Given the description of an element on the screen output the (x, y) to click on. 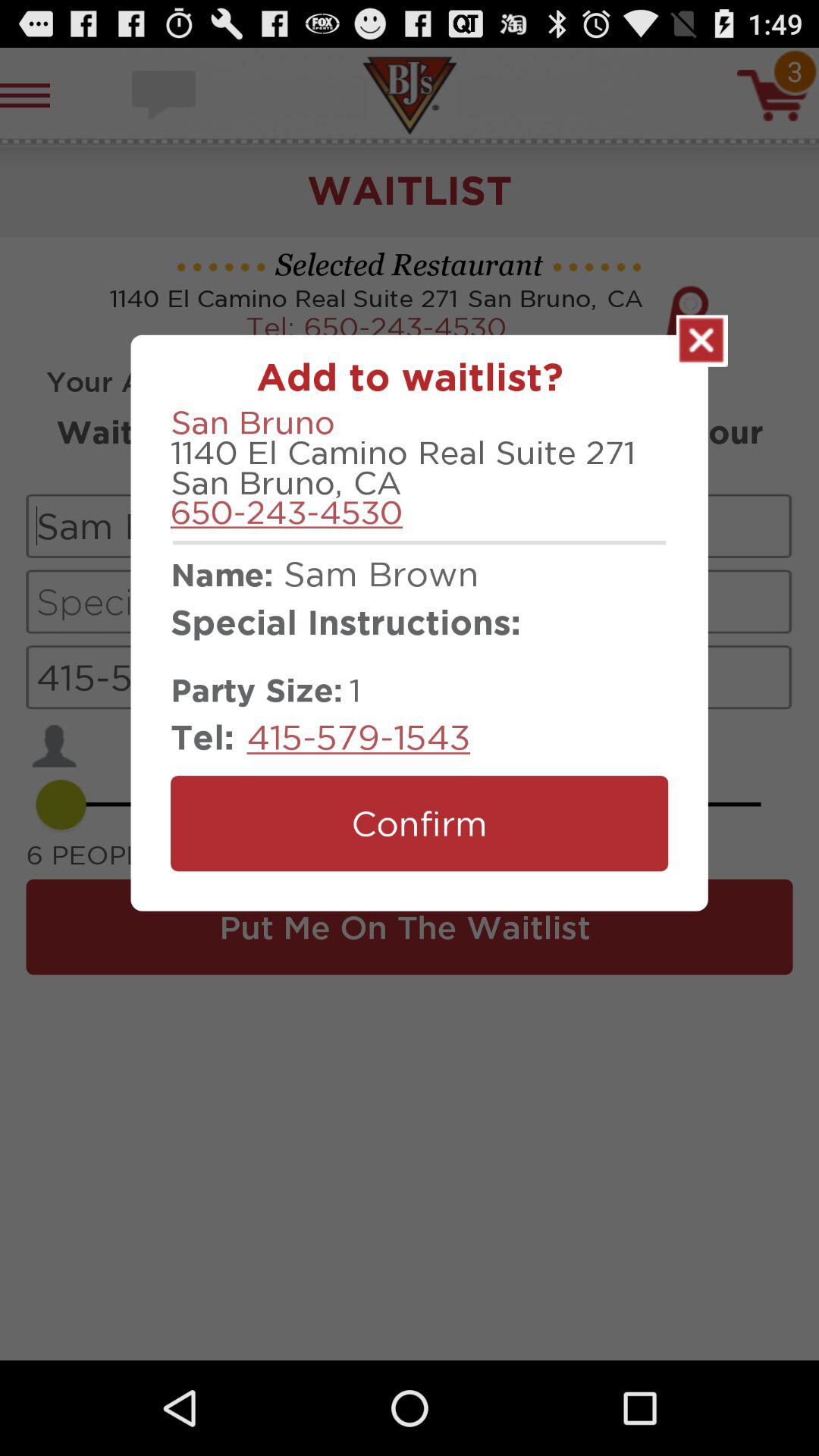
press the button above confirm icon (358, 736)
